Given the description of an element on the screen output the (x, y) to click on. 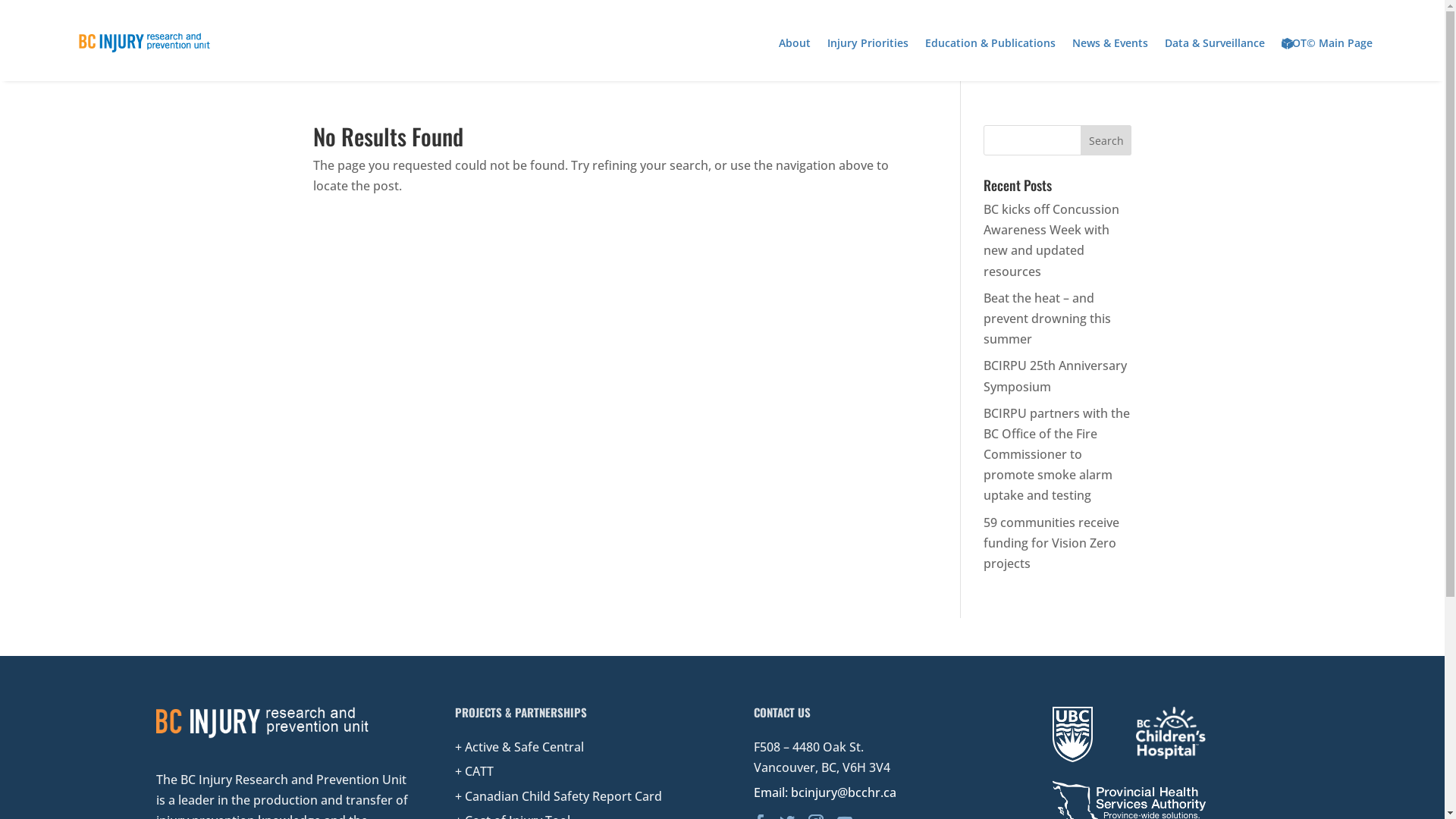
About Element type: text (794, 43)
News & Events Element type: text (1110, 43)
Injury Priorities Element type: text (867, 43)
Email: bcinjury@bcchr.ca Element type: text (824, 792)
Data & Surveillance Element type: text (1214, 43)
BCIRPU 25th Anniversary Symposium Element type: text (1054, 375)
59 communities receive funding for Vision Zero projects Element type: text (1051, 542)
Search Element type: text (1106, 140)
Education & Publications Element type: text (990, 43)
bcirpu_white_orange Element type: hover (262, 722)
